Given the description of an element on the screen output the (x, y) to click on. 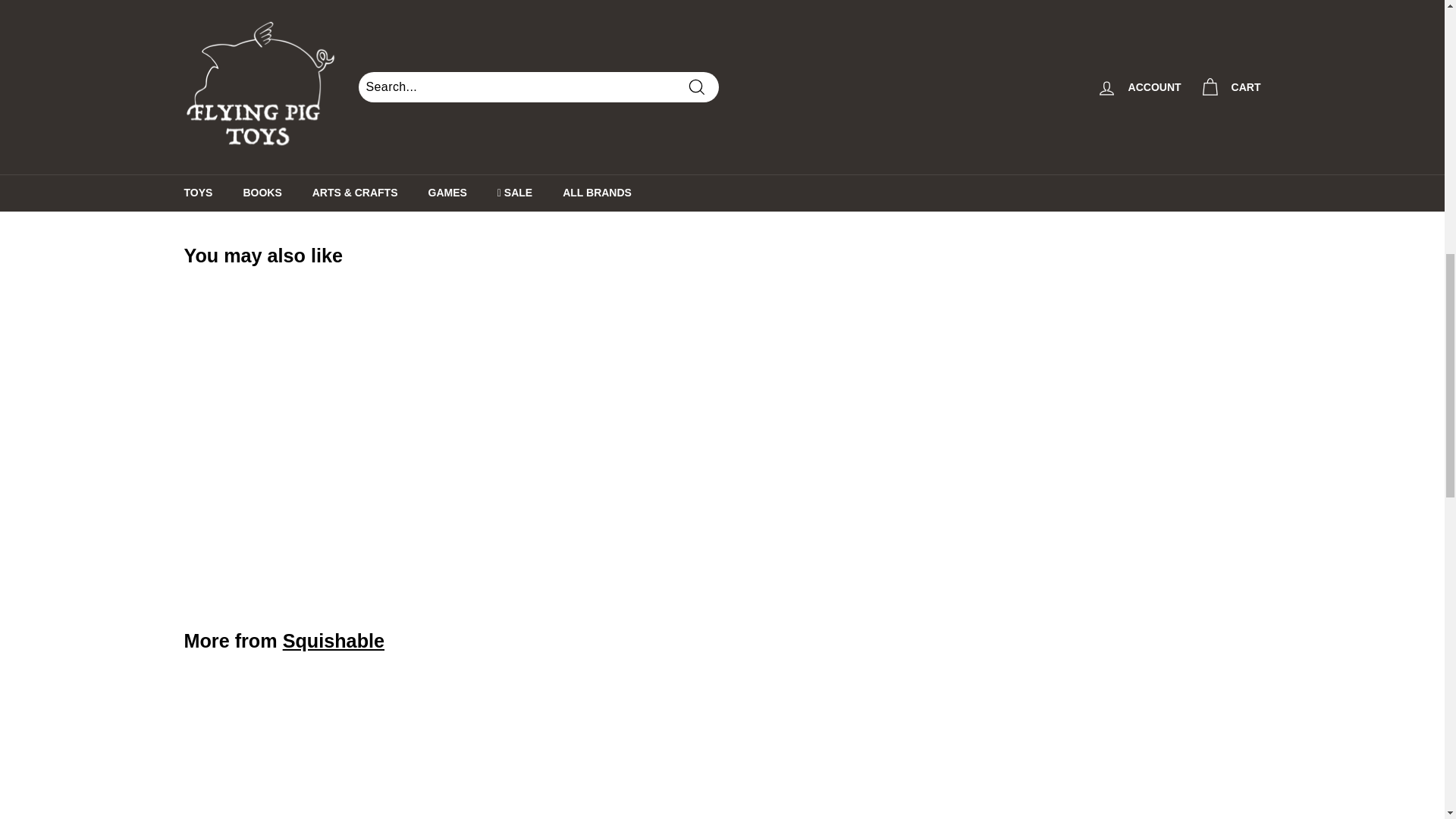
Squishable (333, 640)
